Given the description of an element on the screen output the (x, y) to click on. 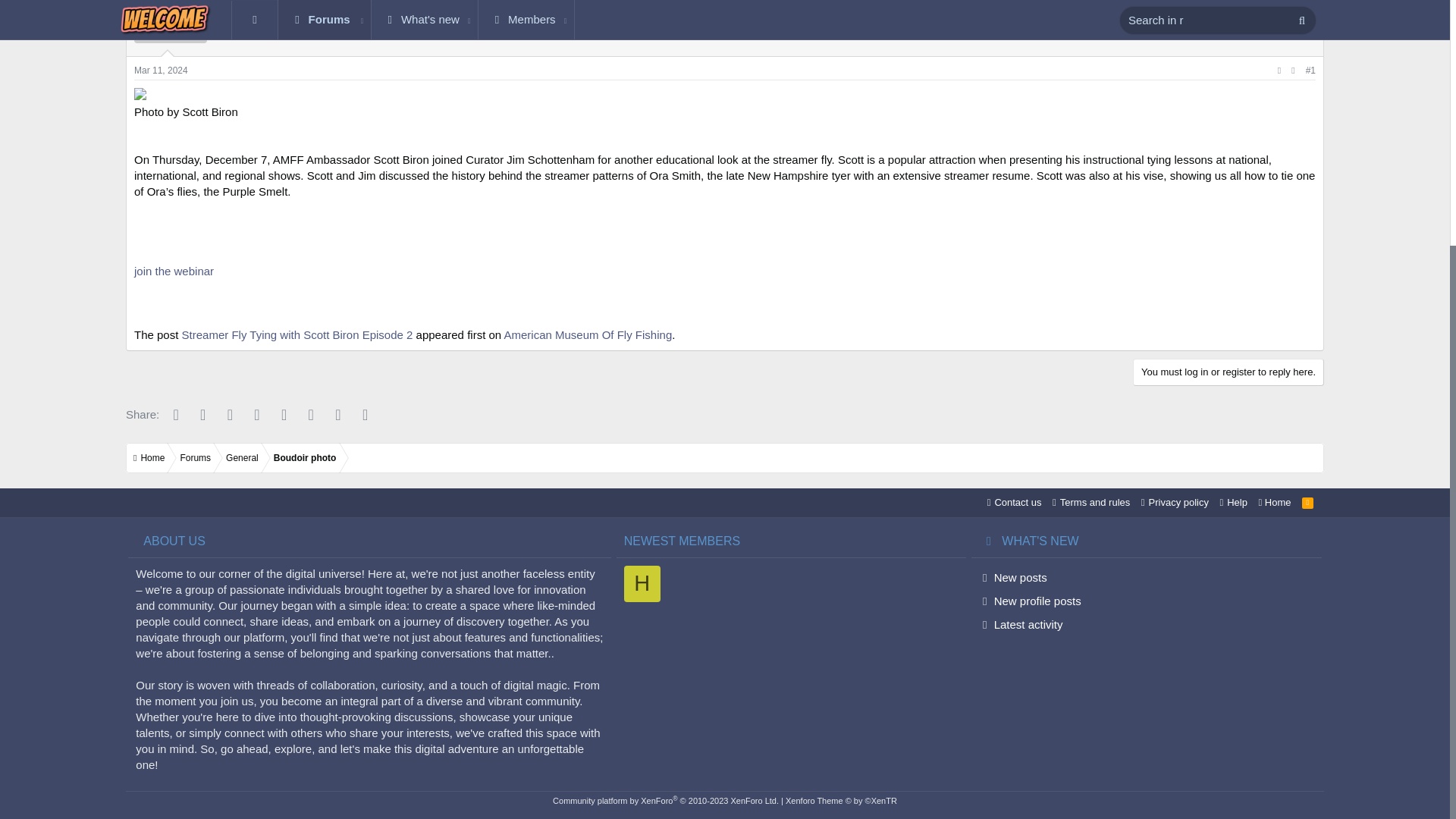
Mar 11, 2024 at 9:10 PM (160, 70)
RSS (1307, 502)
